Given the description of an element on the screen output the (x, y) to click on. 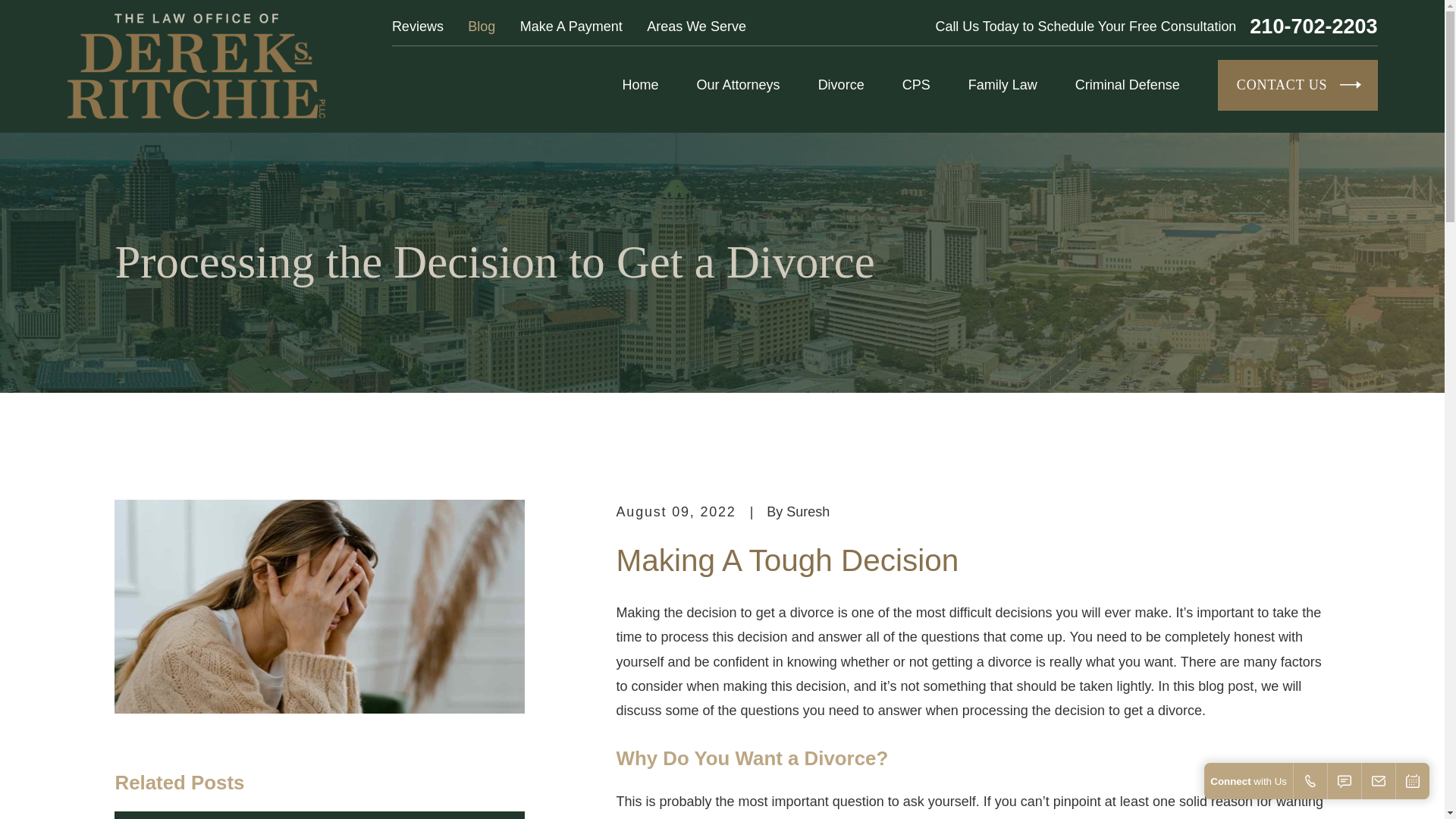
Divorce (841, 85)
Make A Payment (571, 26)
Blog (481, 26)
Criminal Defense (1127, 85)
Areas We Serve (695, 26)
Our Attorneys (738, 85)
Reviews (417, 26)
Family Law (1002, 85)
Home (195, 66)
210-702-2203 (1313, 26)
